Given the description of an element on the screen output the (x, y) to click on. 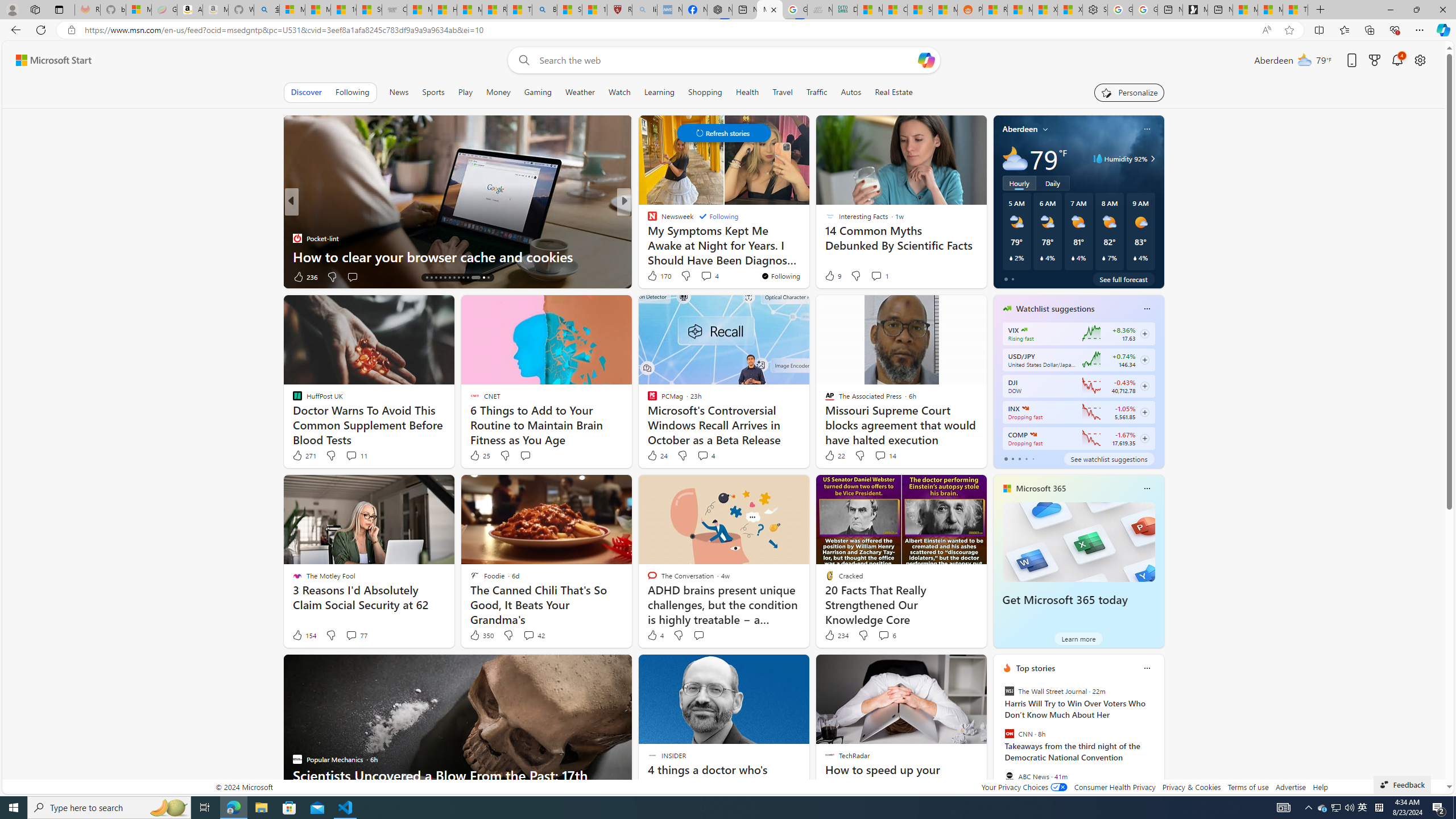
AutomationID: tab-19 (449, 277)
next (1158, 741)
AutomationID: tab-16 (435, 277)
View comments 2 Comment (6, 276)
Daily (1052, 183)
AutomationID: tab-18 (444, 277)
Traffic (816, 92)
See watchlist suggestions (1108, 459)
Class: follow-button  m (1144, 438)
